Given the description of an element on the screen output the (x, y) to click on. 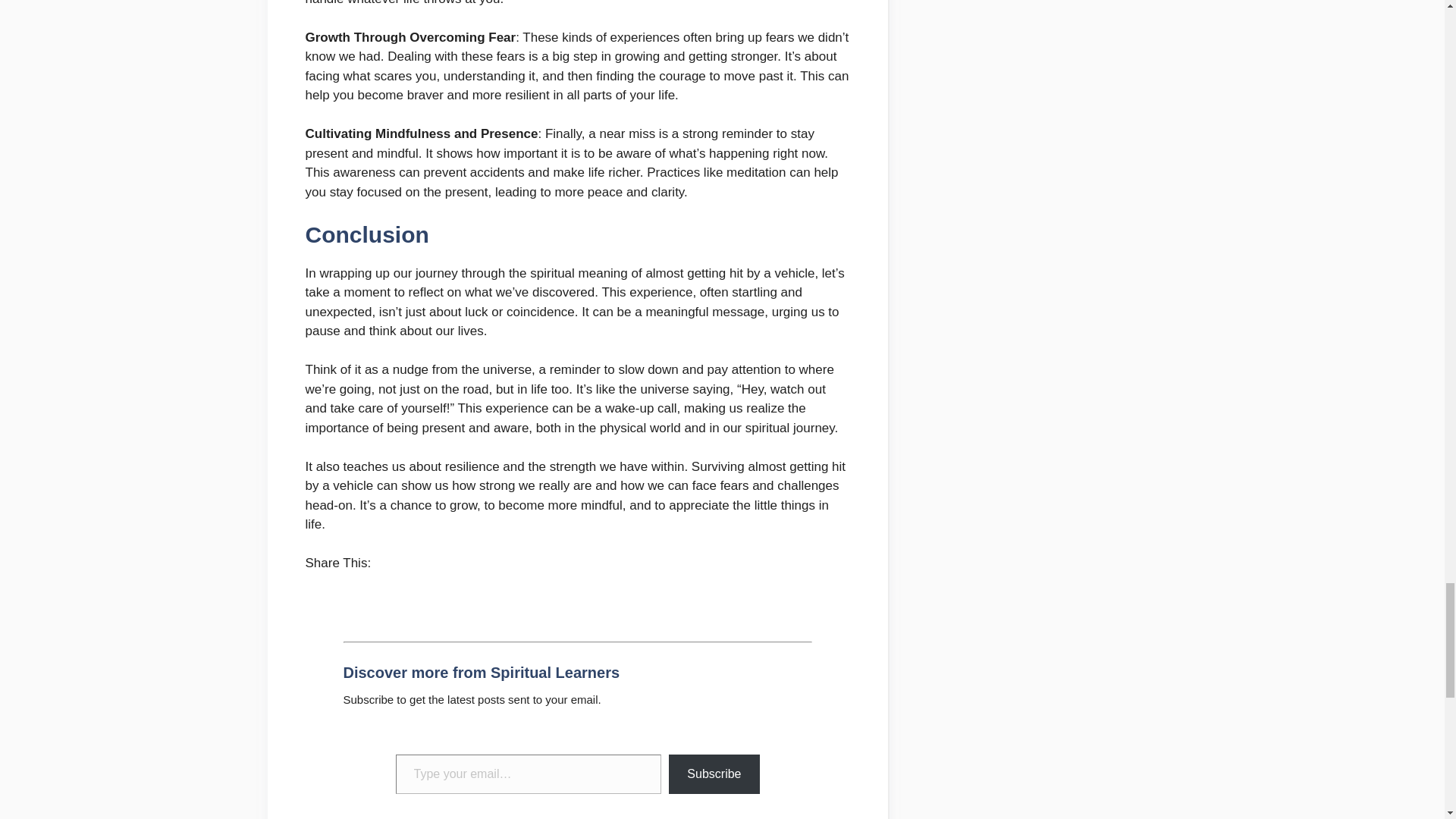
Please fill in this field. (529, 774)
Subscribe (713, 774)
